Given the description of an element on the screen output the (x, y) to click on. 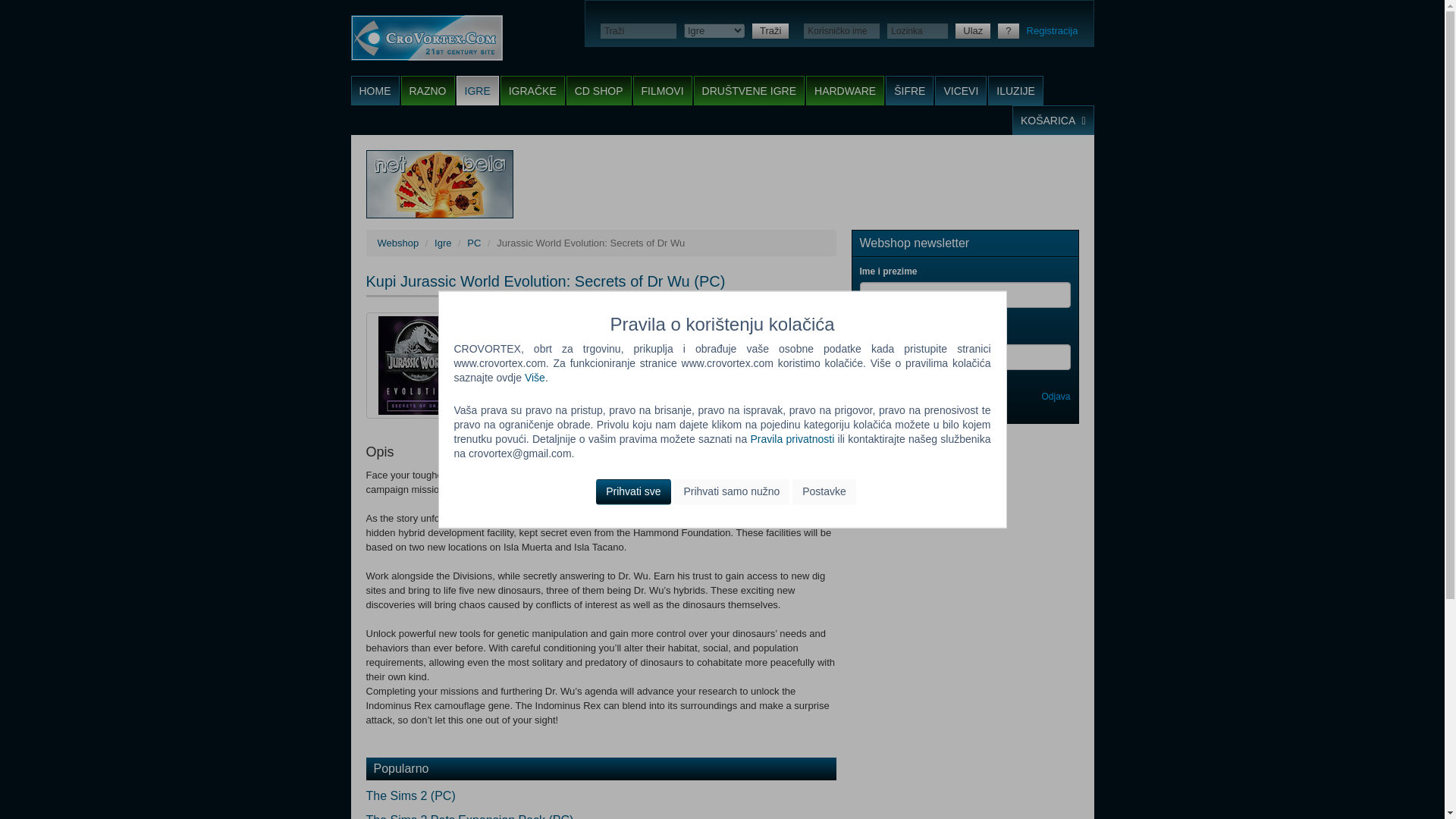
CroVortex (426, 37)
RAZNO (427, 90)
IGRE (478, 90)
HOME (374, 90)
Ulaz (972, 30)
Registracija (1052, 30)
? (1007, 30)
